Given the description of an element on the screen output the (x, y) to click on. 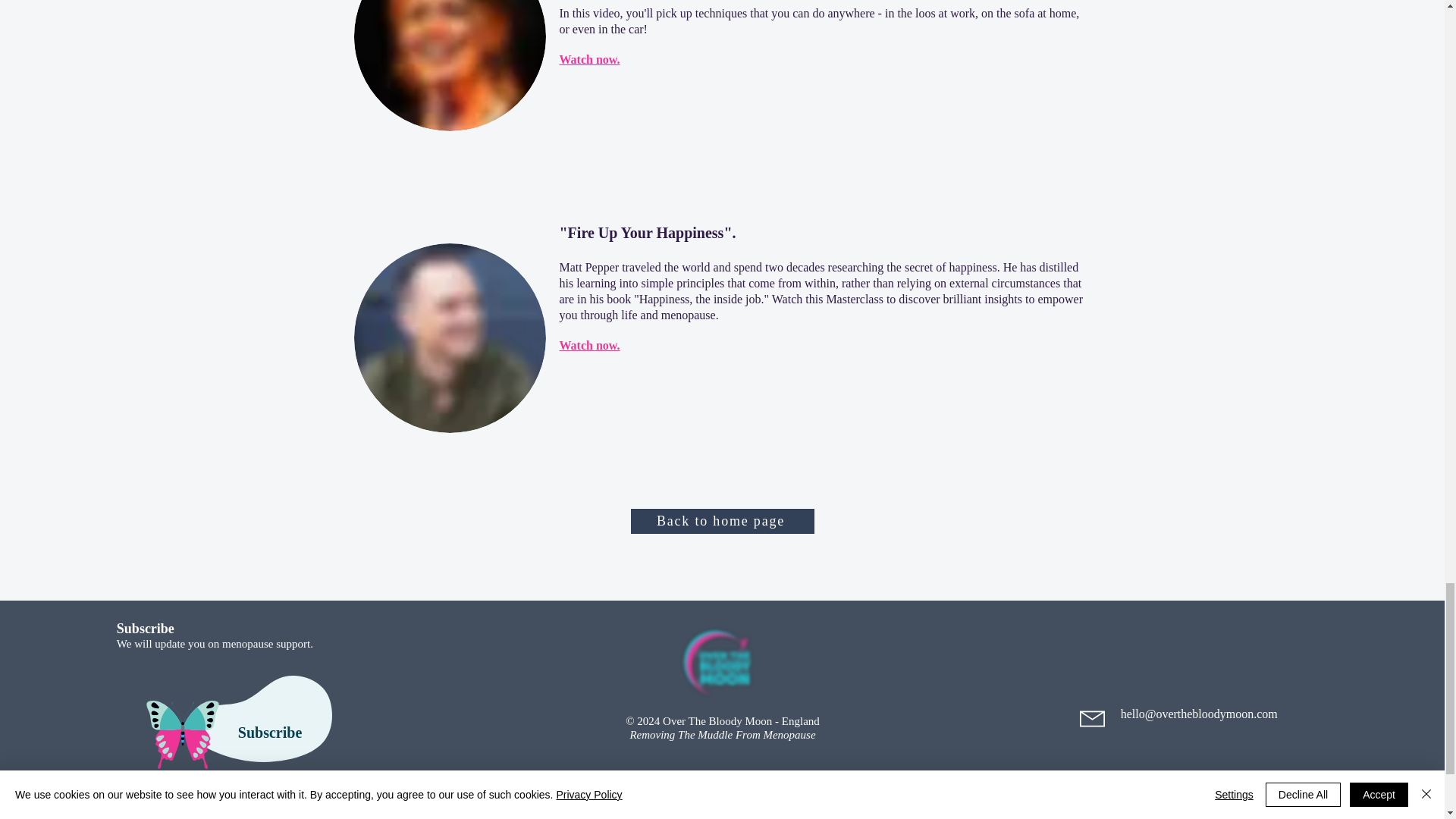
Watch now. (589, 345)
Watch now. (589, 59)
Back to home page (721, 520)
Subscribe  (271, 732)
